Given the description of an element on the screen output the (x, y) to click on. 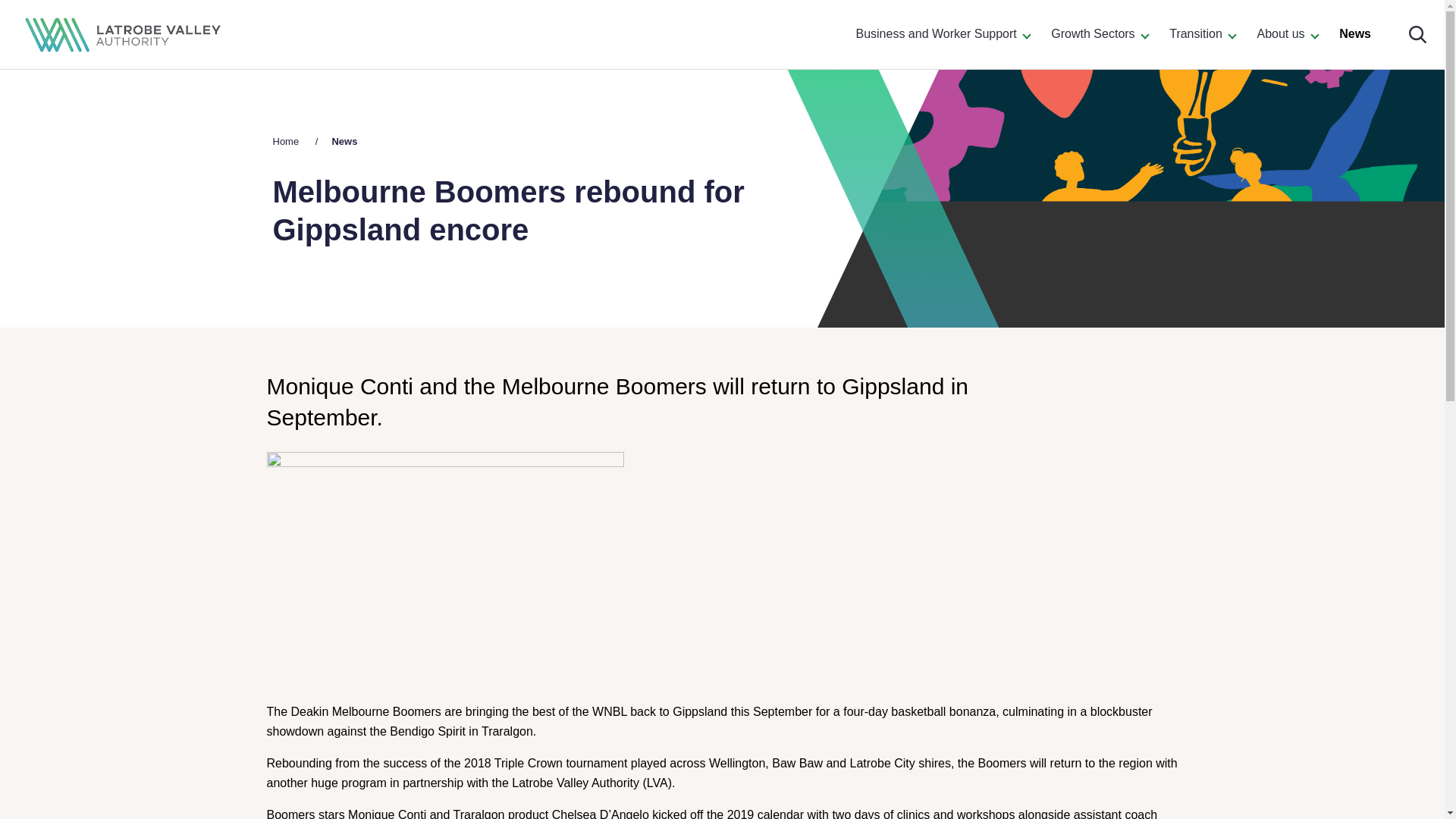
Home (286, 141)
News (343, 141)
Home (286, 141)
About us (1287, 34)
Growth Sectors (1099, 34)
Transition (1201, 34)
Business and Worker Support (941, 34)
News (343, 141)
